Given the description of an element on the screen output the (x, y) to click on. 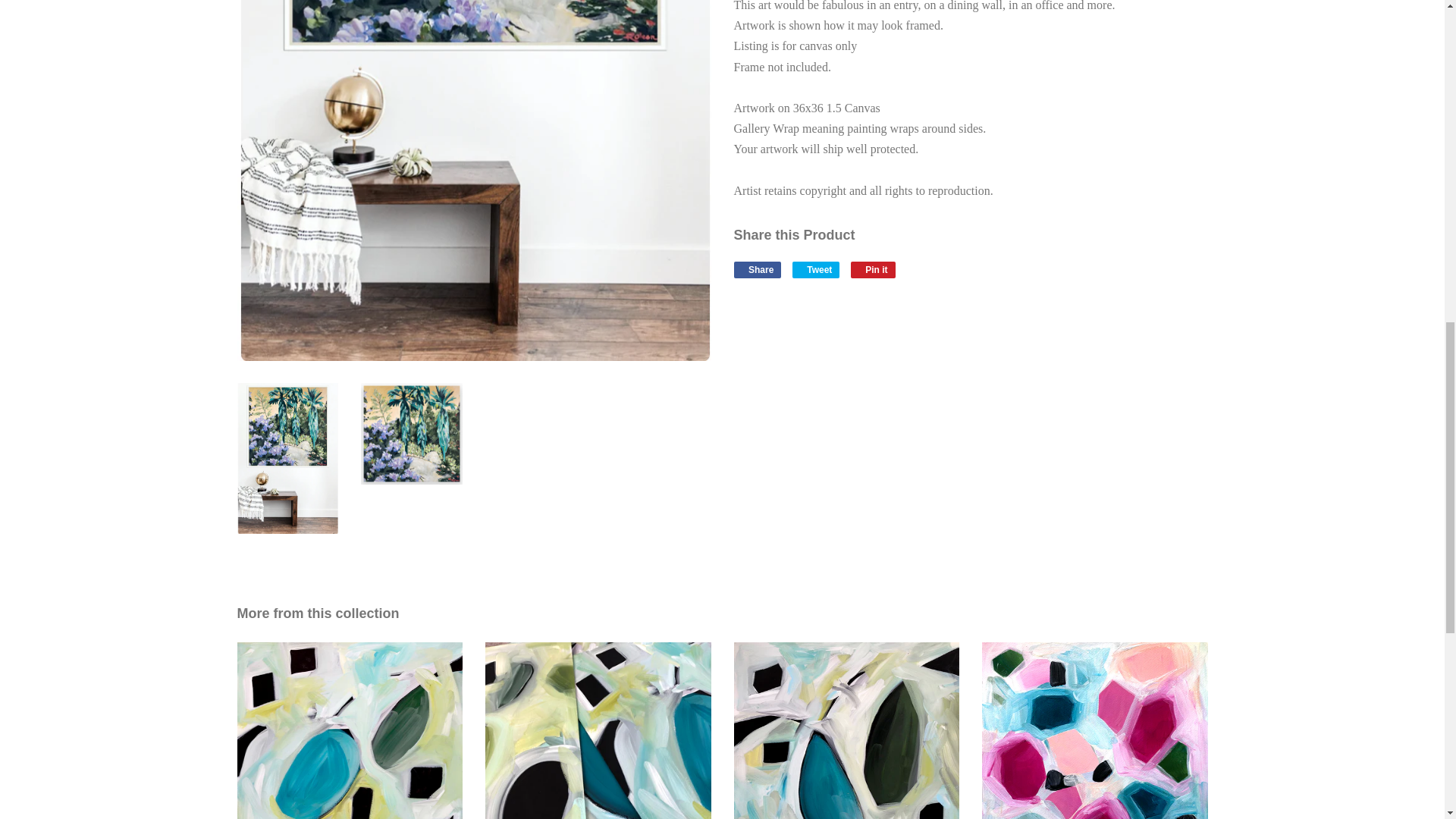
Pin on Pinterest (872, 269)
Share on Facebook (757, 269)
Tweet on Twitter (816, 269)
